Given the description of an element on the screen output the (x, y) to click on. 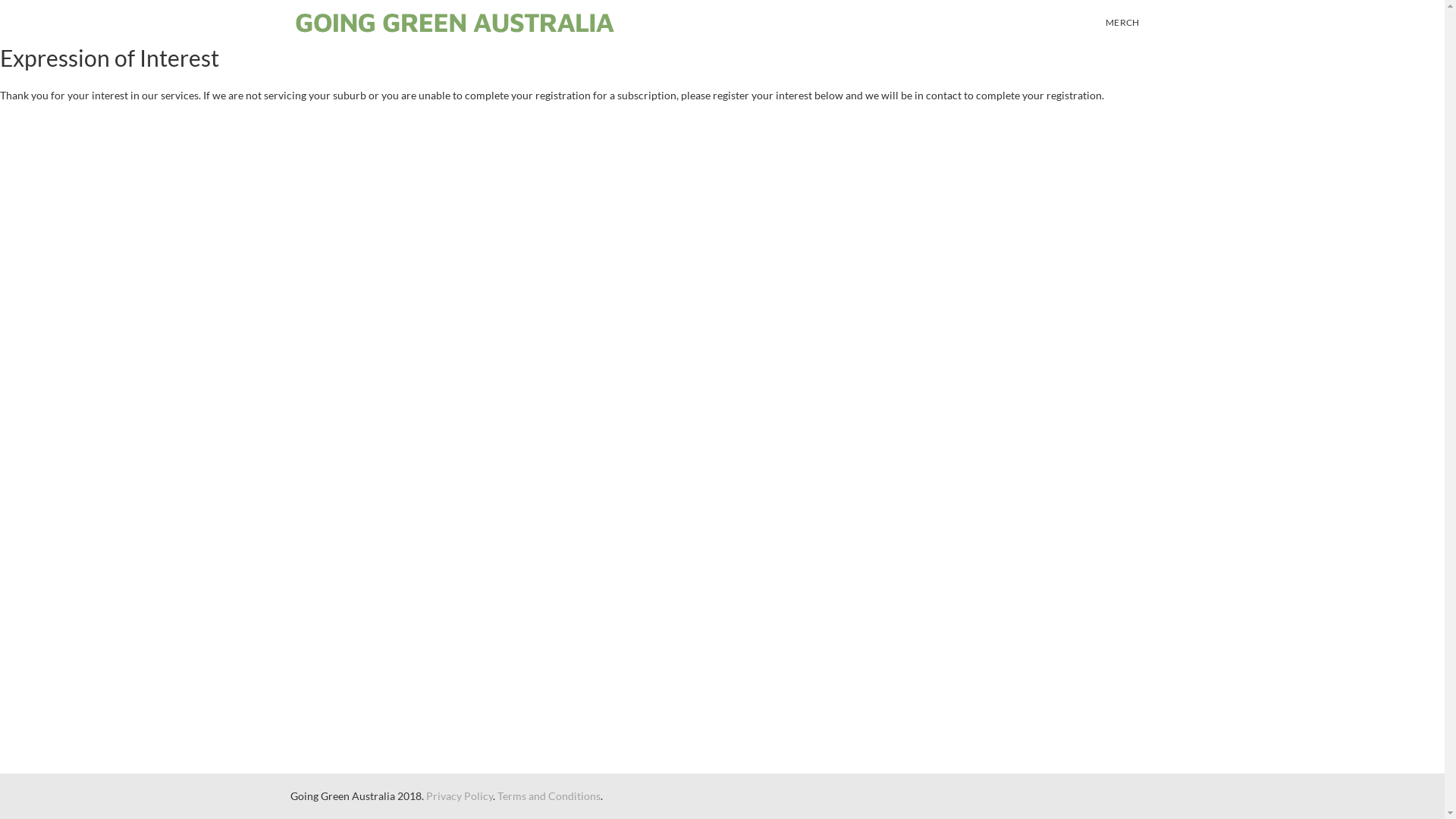
Terms and Conditions Element type: text (548, 795)
Privacy Policy Element type: text (459, 795)
MERCH Element type: text (1122, 22)
